Given the description of an element on the screen output the (x, y) to click on. 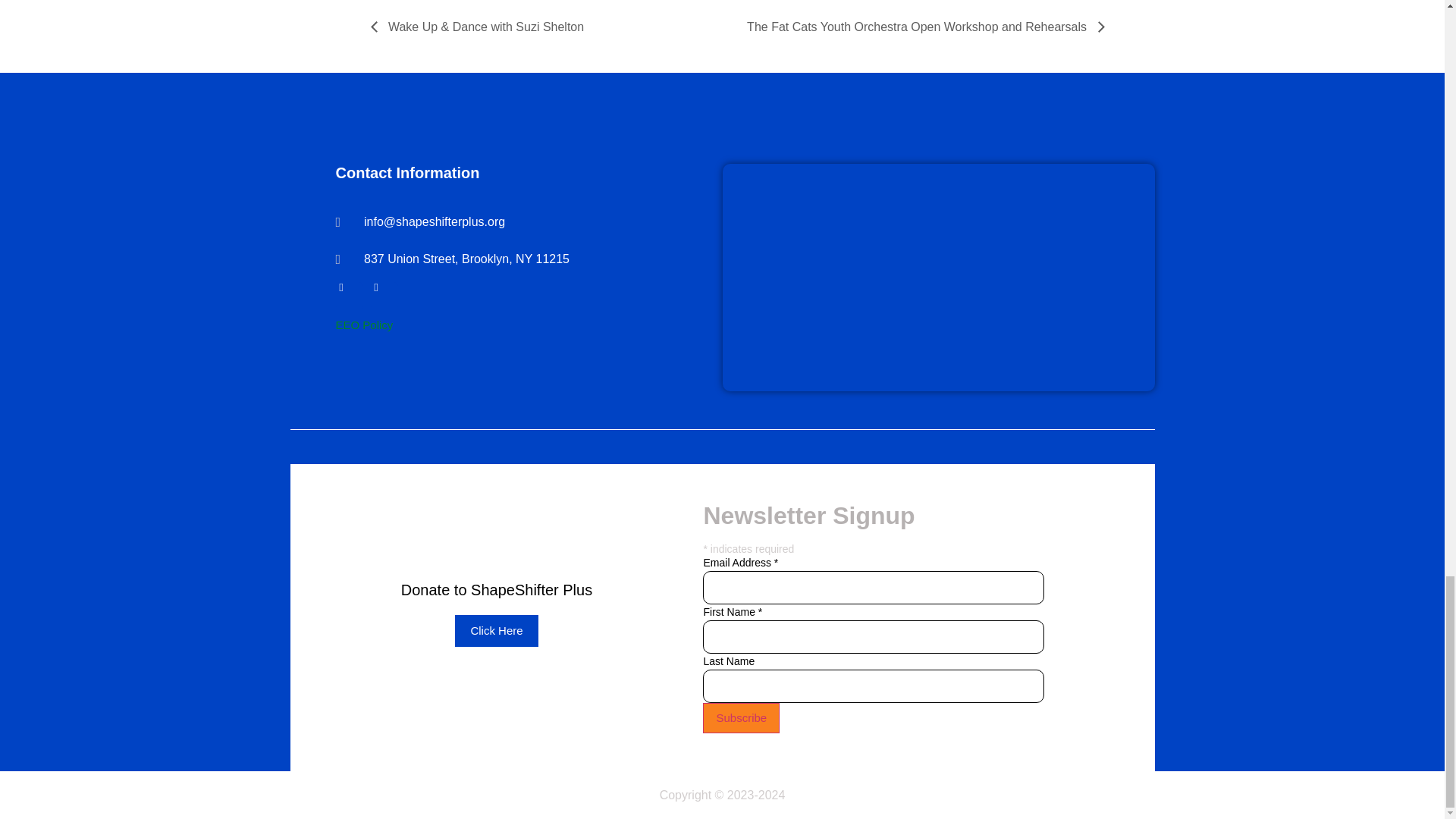
Subscribe (740, 717)
837 Union Street, Brooklyn, NY 11215 (938, 277)
